Given the description of an element on the screen output the (x, y) to click on. 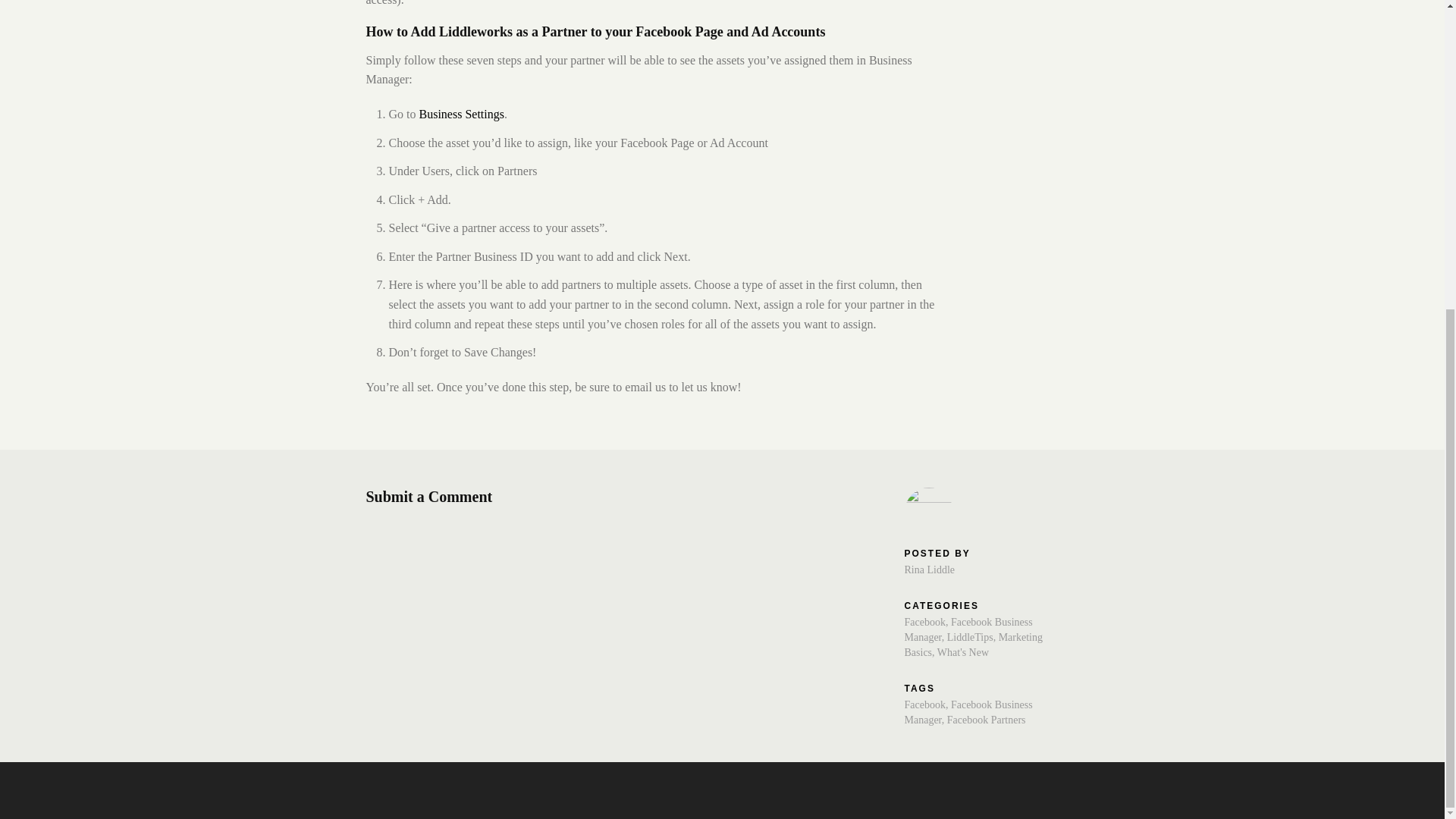
Posts by Rina Liddle (929, 569)
